Given the description of an element on the screen output the (x, y) to click on. 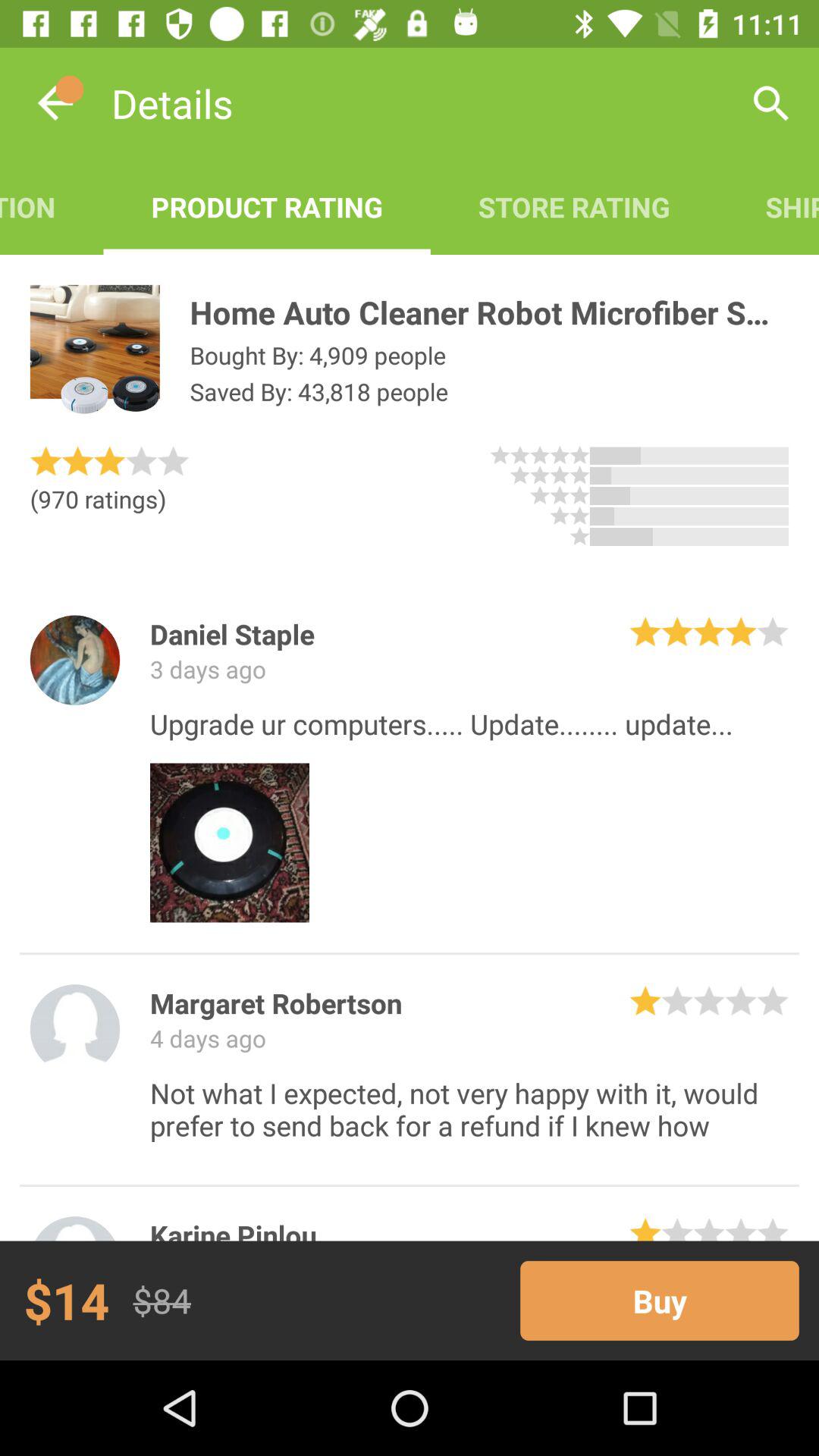
choose icon above home auto cleaner item (768, 206)
